Given the description of an element on the screen output the (x, y) to click on. 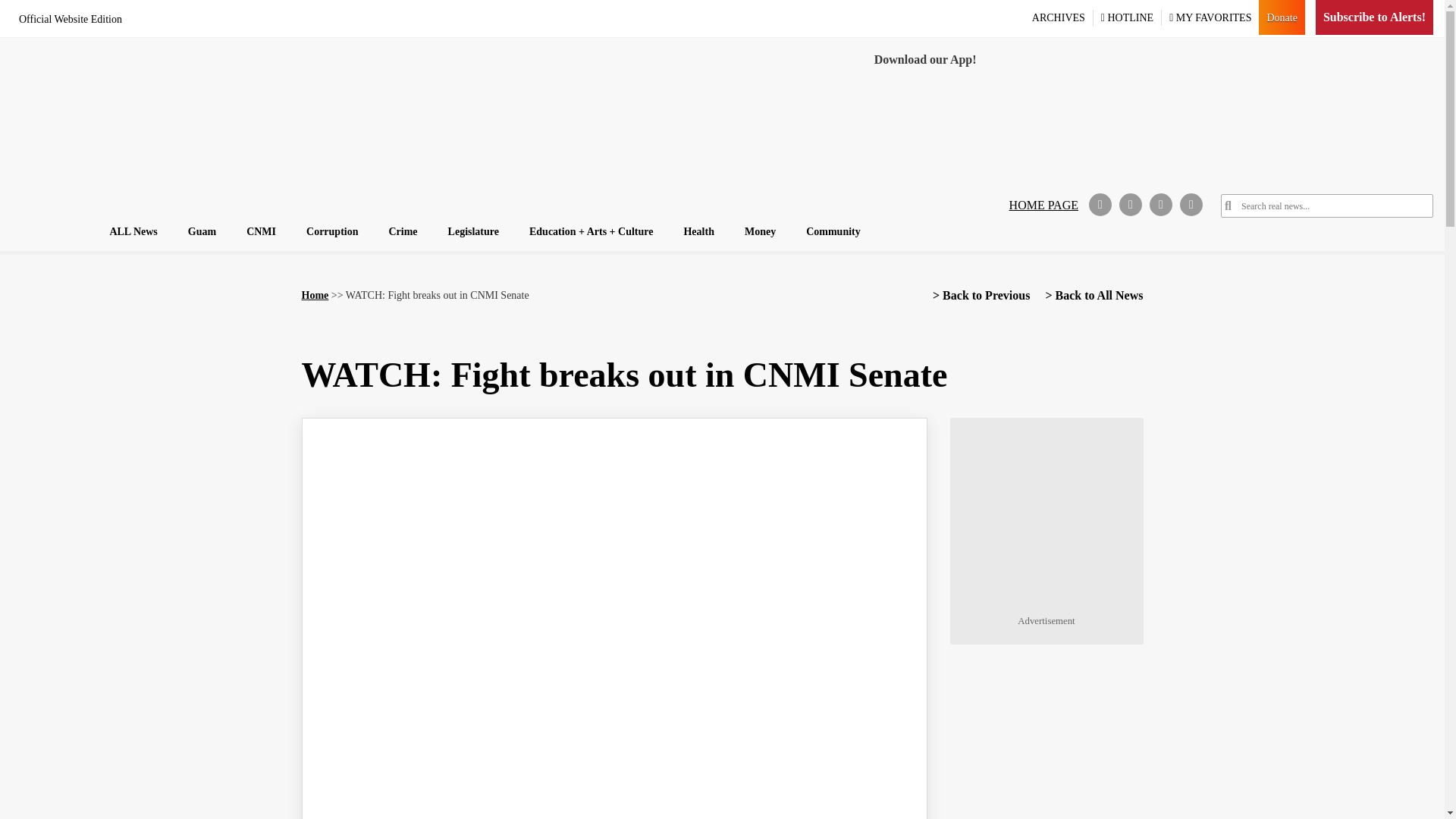
CNMI (260, 231)
MY FAVORITES (1209, 17)
HOME PAGE (1043, 205)
HOTLINE (1128, 17)
Money (759, 231)
Donate (1281, 17)
Corruption (331, 231)
Community (832, 231)
Legislature (473, 231)
